Given the description of an element on the screen output the (x, y) to click on. 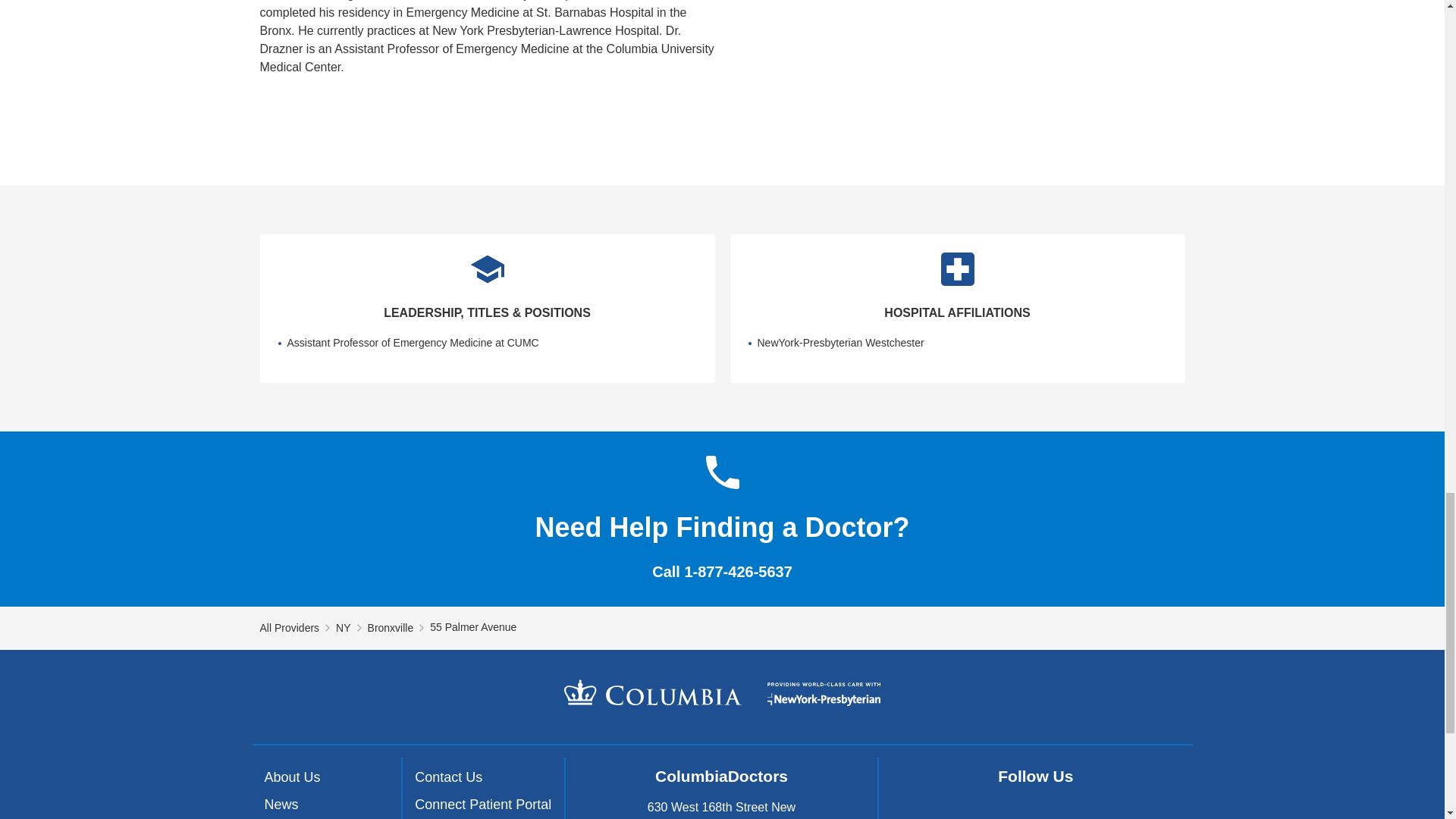
Call 1-877-426-5637 (722, 571)
